Given the description of an element on the screen output the (x, y) to click on. 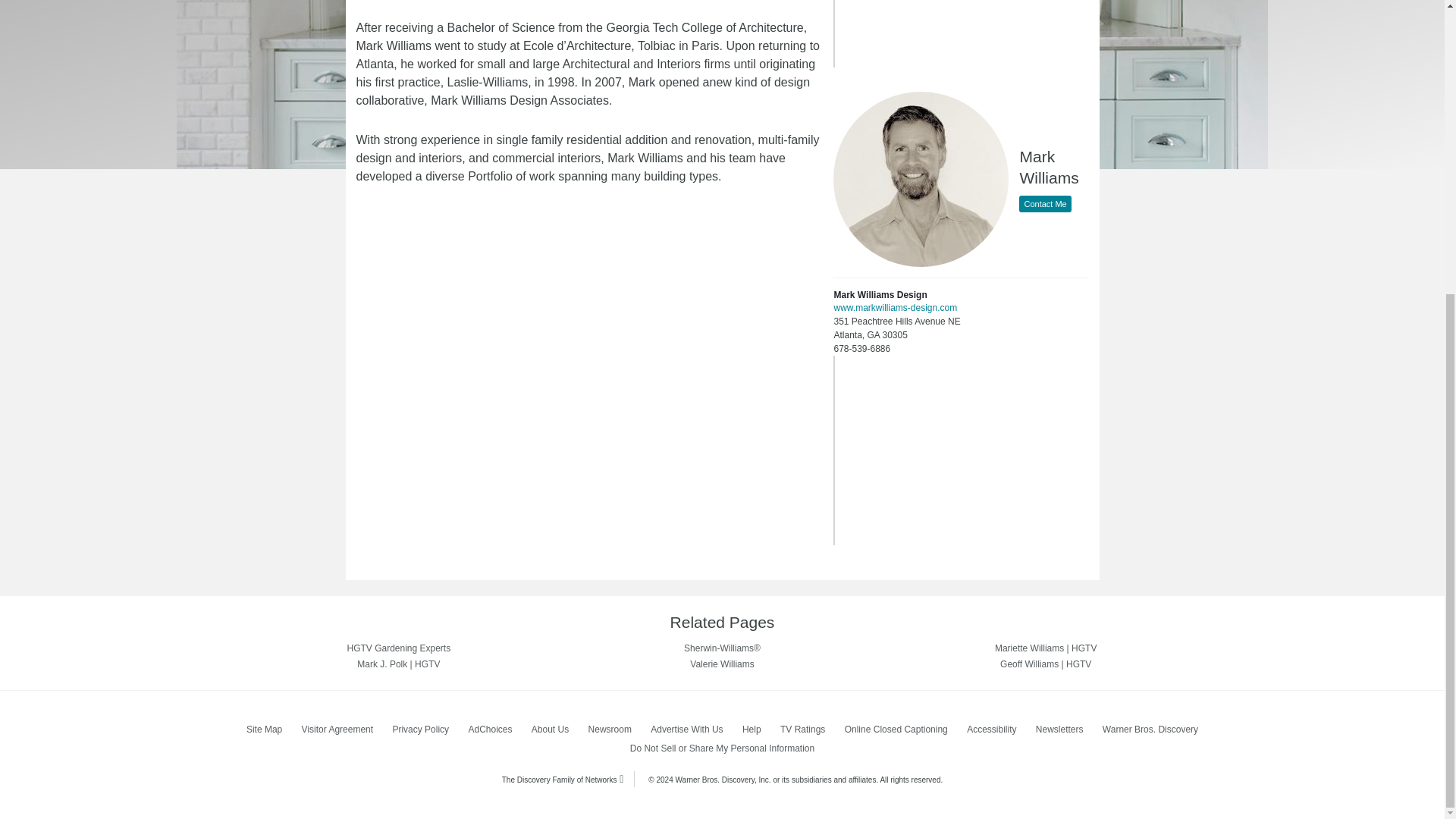
3rd party ad content (957, 33)
3rd party ad content (957, 450)
